Given the description of an element on the screen output the (x, y) to click on. 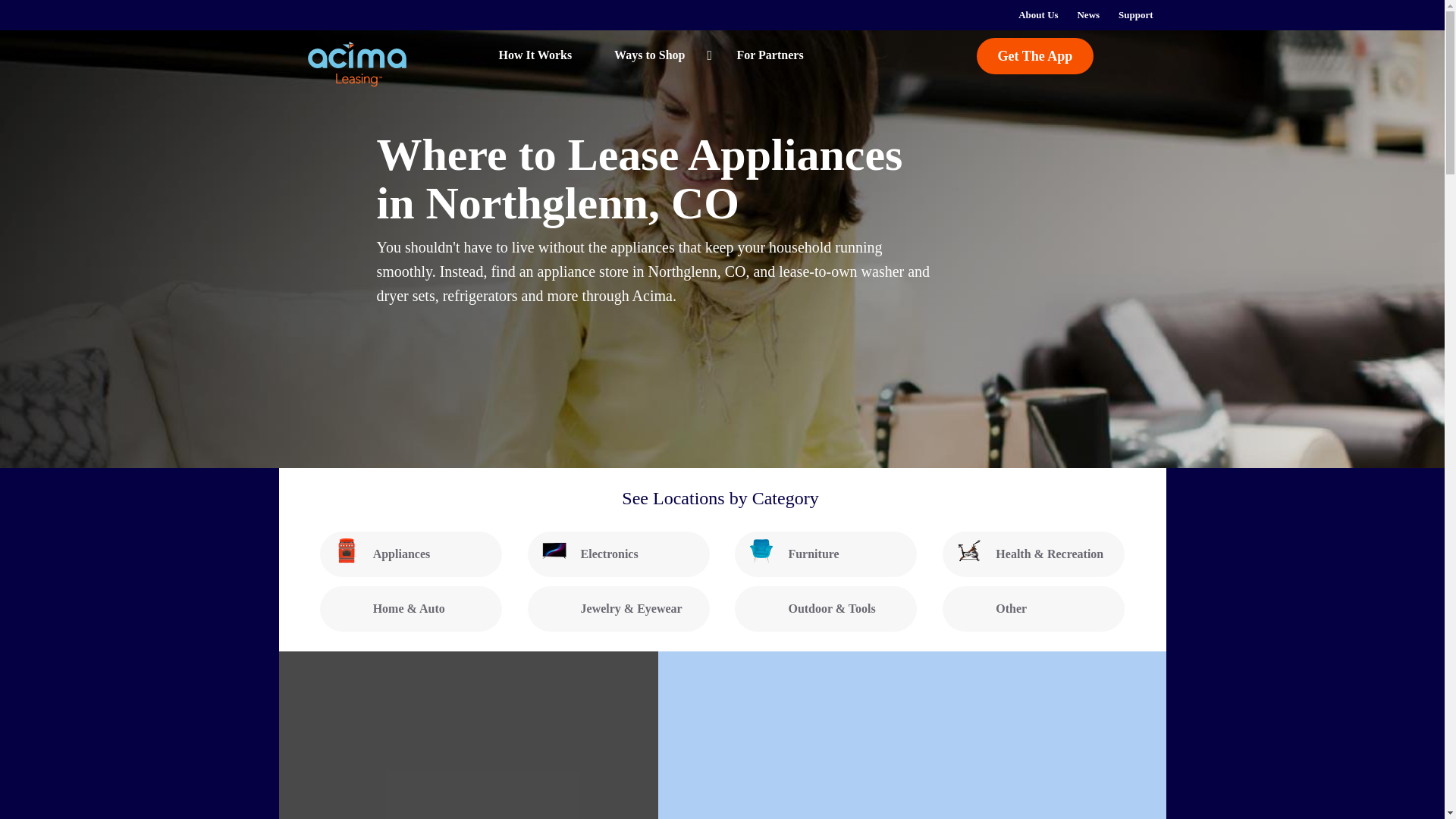
Ways to Shop (653, 54)
Appliances (411, 554)
Support (1136, 15)
Electronics (618, 554)
For Partners (769, 54)
Acima (358, 63)
How It Works (516, 54)
Furniture (826, 554)
About Us (1037, 15)
Get The App (1035, 55)
